Given the description of an element on the screen output the (x, y) to click on. 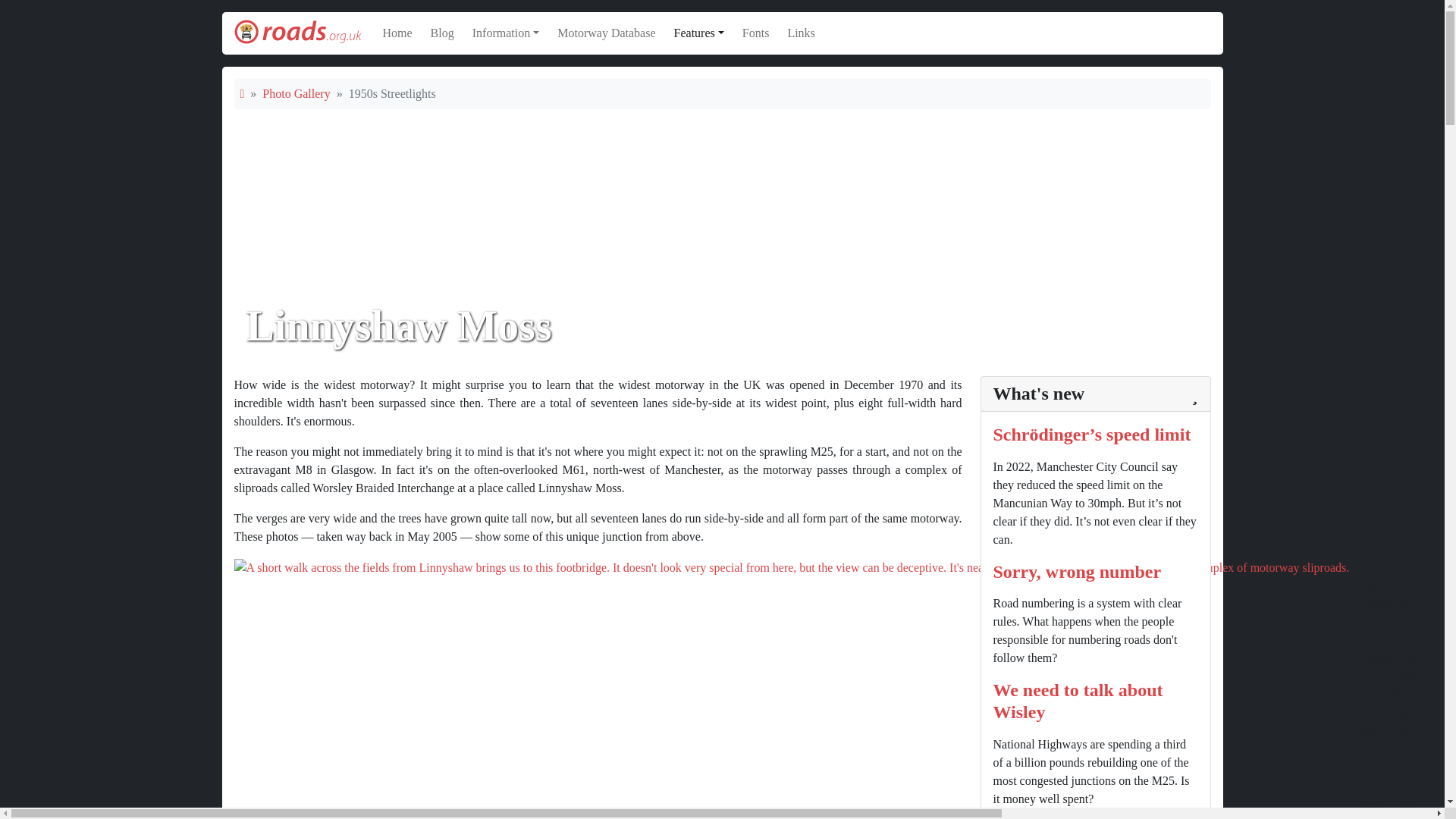
Photo Gallery (296, 92)
Blog (442, 33)
Expand menu Features (699, 33)
More road and transport websites to visit (800, 33)
Roads.org.uk Home (296, 32)
Links (800, 33)
Expand menu Information (505, 33)
Fonts (756, 33)
Information and maps about UK motorways and expressways (606, 33)
Home (396, 33)
